Given the description of an element on the screen output the (x, y) to click on. 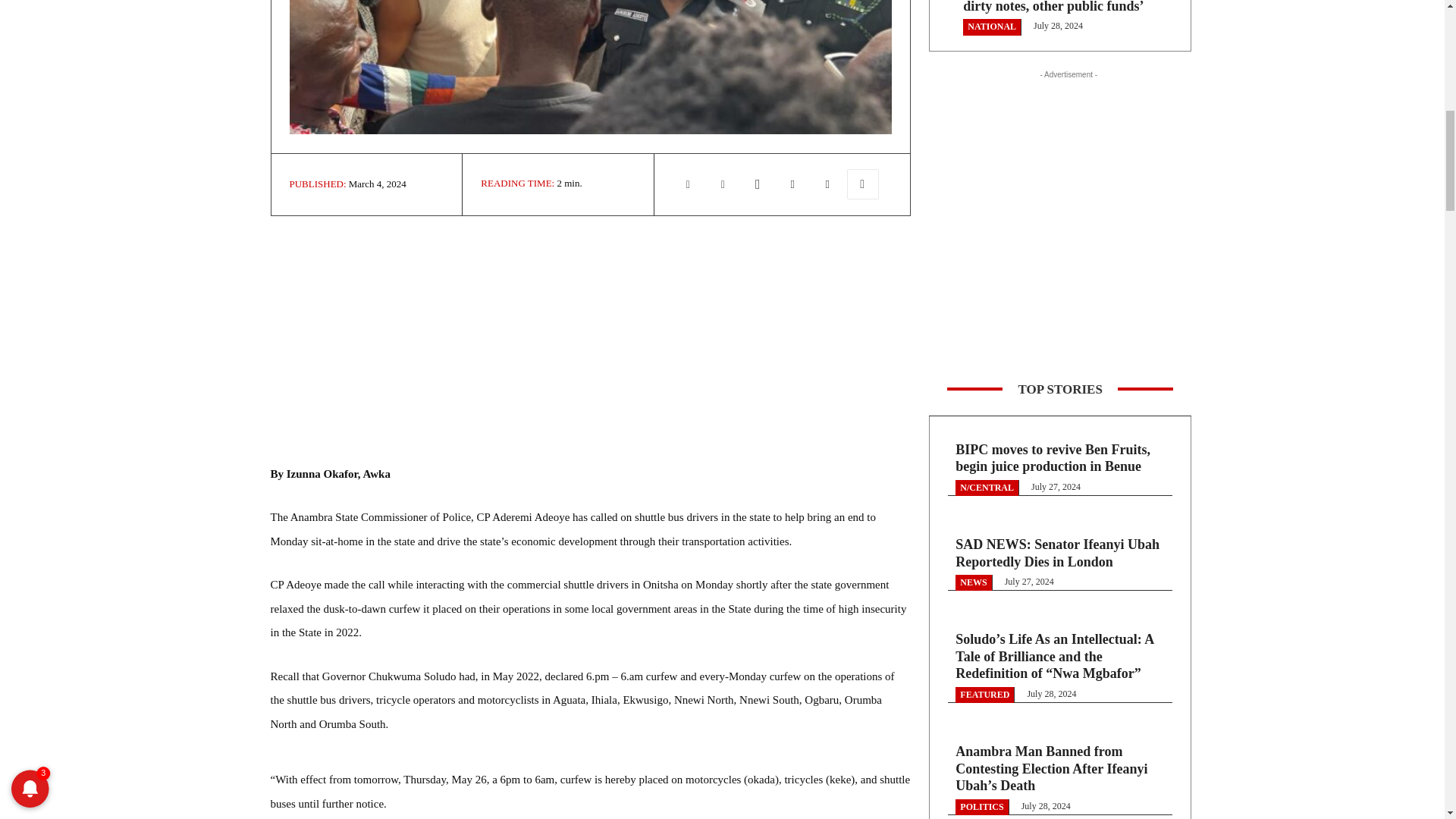
Facebook (687, 183)
IMG-20240304-WA0031 (590, 67)
Twitter (722, 183)
